Given the description of an element on the screen output the (x, y) to click on. 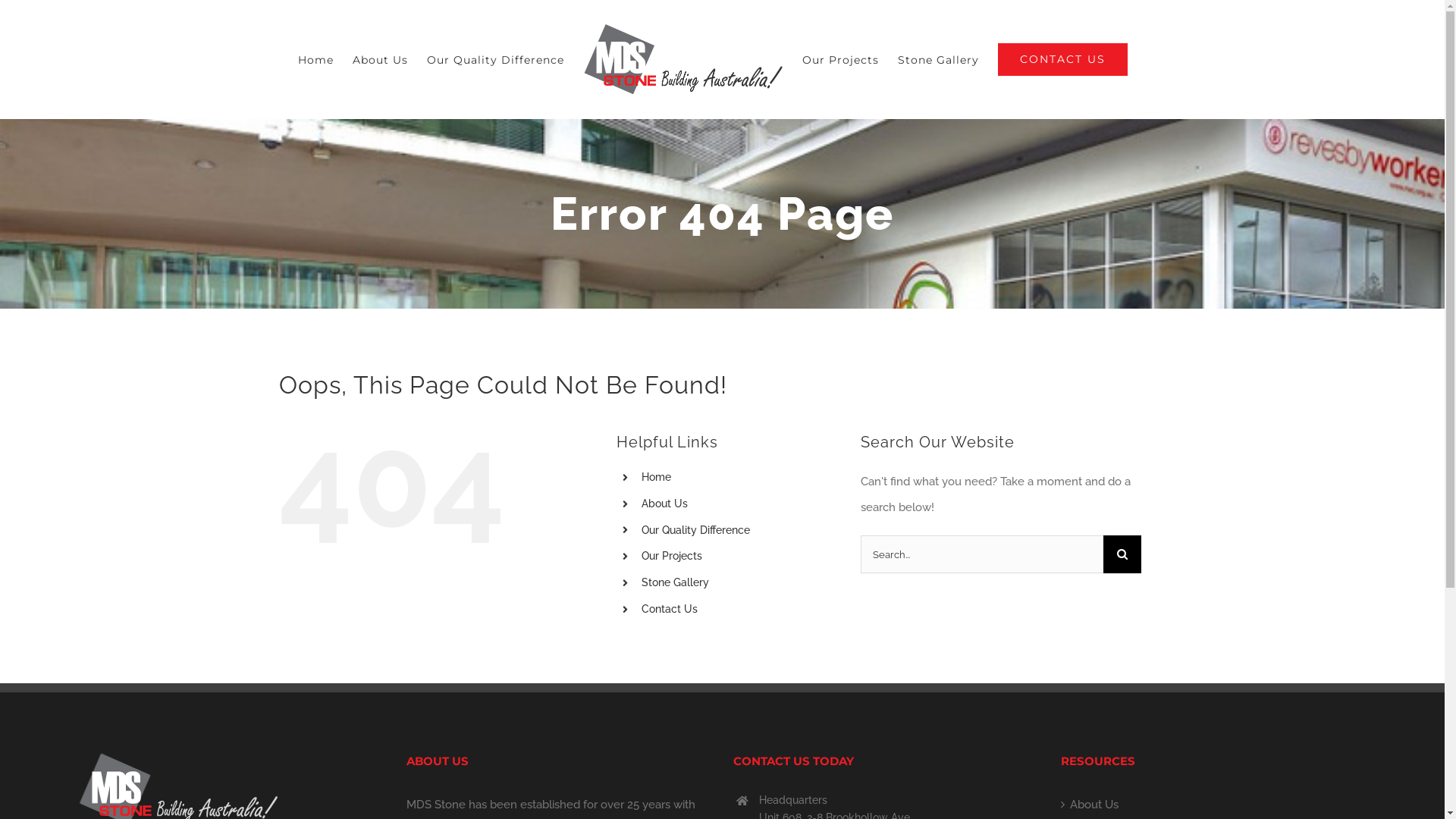
About Us Element type: text (664, 503)
Contact Us Element type: text (669, 608)
Home Element type: text (656, 476)
About Us Element type: text (379, 59)
Stone Gallery Element type: text (675, 582)
Our Quality Difference Element type: text (695, 529)
Our Projects Element type: text (671, 555)
About Us Element type: text (1214, 804)
CONTACT US Element type: text (1062, 59)
Our Projects Element type: text (840, 59)
Home Element type: text (315, 59)
Stone Gallery Element type: text (938, 59)
Our Quality Difference Element type: text (495, 59)
